Given the description of an element on the screen output the (x, y) to click on. 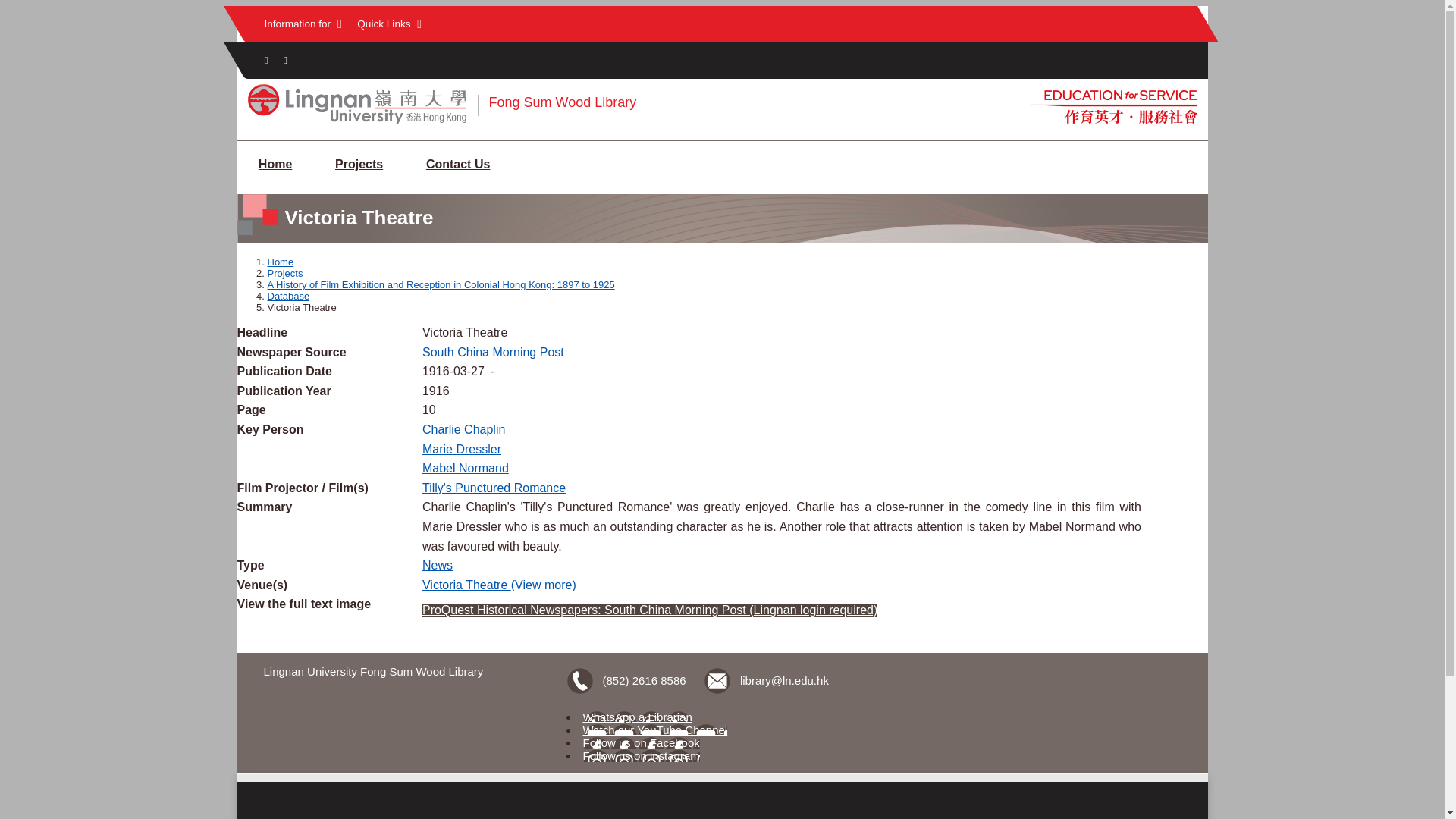
Victoria Theatre (466, 584)
Phone Number (629, 680)
Information for (301, 23)
Fong Sum Wood Library (561, 102)
WhatsApp a Librarian (638, 716)
Share to (265, 60)
Follow us on instagram (641, 755)
Search (287, 60)
Lingnan University (356, 123)
Watch our YouTube Channel (655, 729)
Follow us on Facebook (641, 742)
Skip to main content (722, 7)
Fong Sum Wood Library (561, 102)
Quick Links (389, 23)
Email (766, 680)
